Given the description of an element on the screen output the (x, y) to click on. 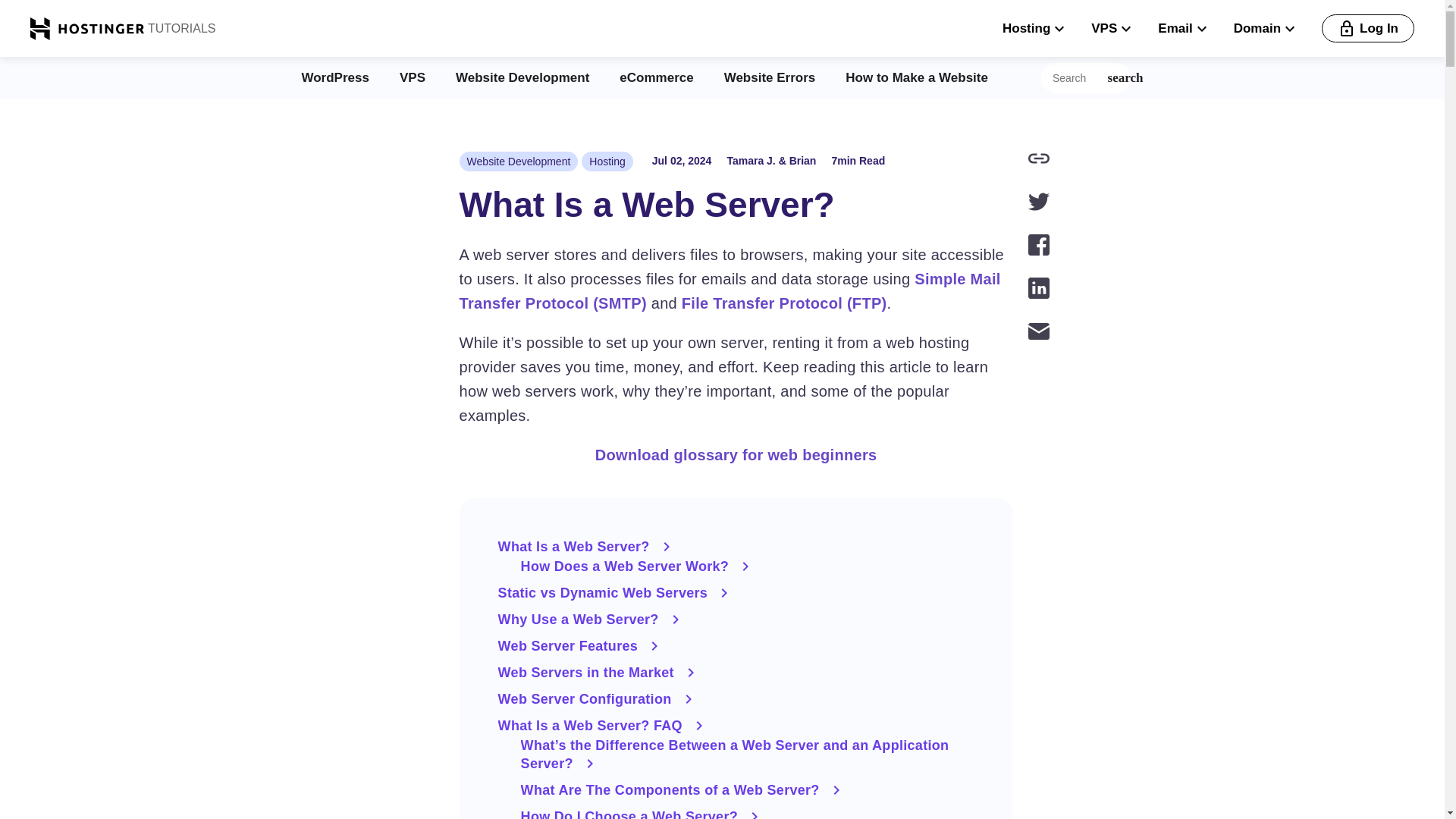
Log In (1367, 28)
Web Server Configuration (735, 699)
Why Use a Web Server? (735, 619)
What Is a Web Server? (735, 546)
WordPress (335, 77)
Static vs Dynamic Web Servers (735, 592)
Why Use a Web Server? (735, 619)
What Is a Web Server? FAQ (735, 725)
Website Development (522, 77)
What Are The Components of a Web Server? (747, 790)
